Given the description of an element on the screen output the (x, y) to click on. 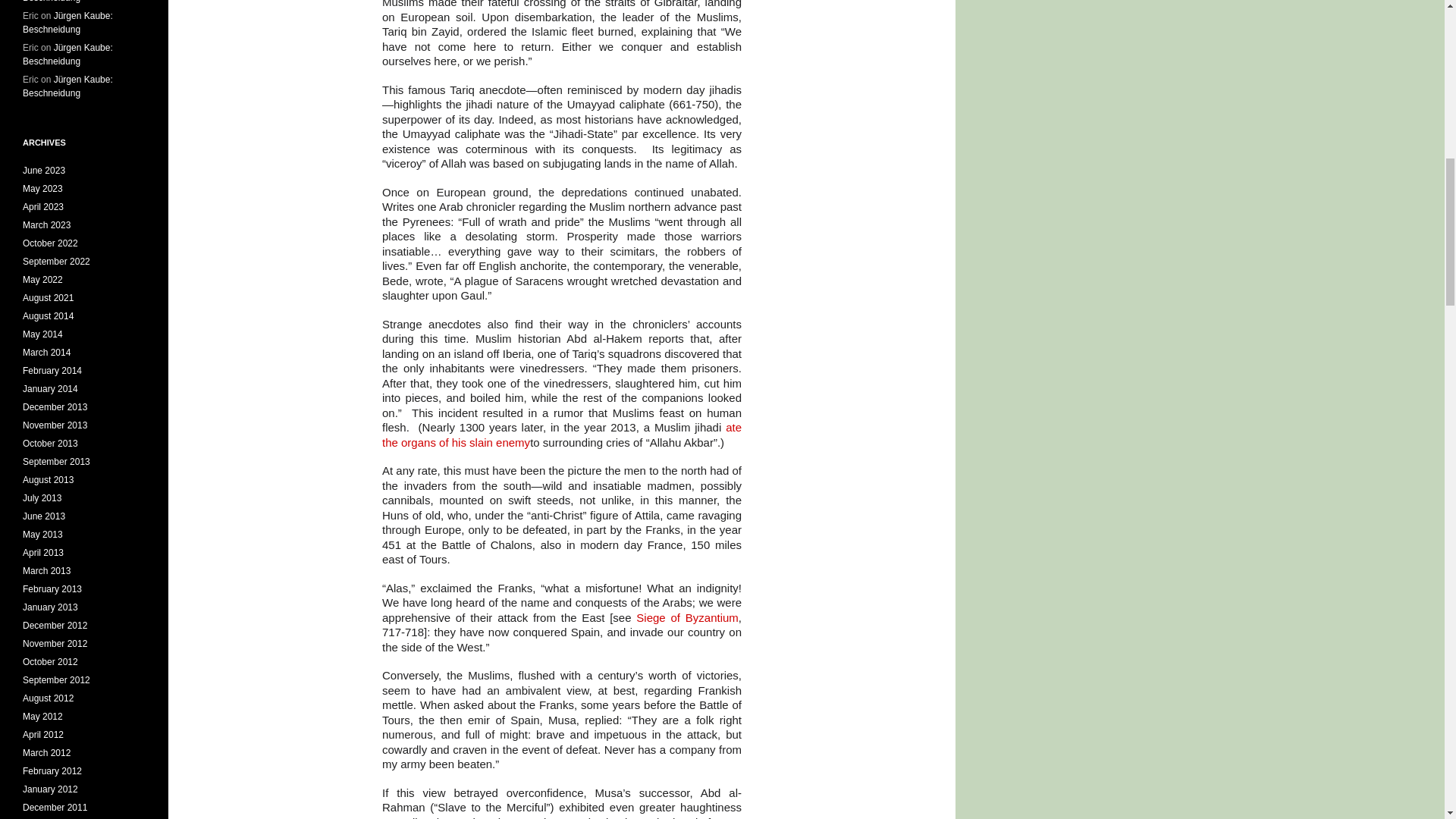
March 2014 (46, 352)
May 2023 (42, 188)
May 2014 (42, 334)
August 2014 (48, 316)
March 2023 (46, 225)
October 2022 (50, 243)
September 2022 (56, 261)
ate the organs of his slain enemy (561, 434)
May 2022 (42, 279)
Siege of Byzantium (687, 617)
